Given the description of an element on the screen output the (x, y) to click on. 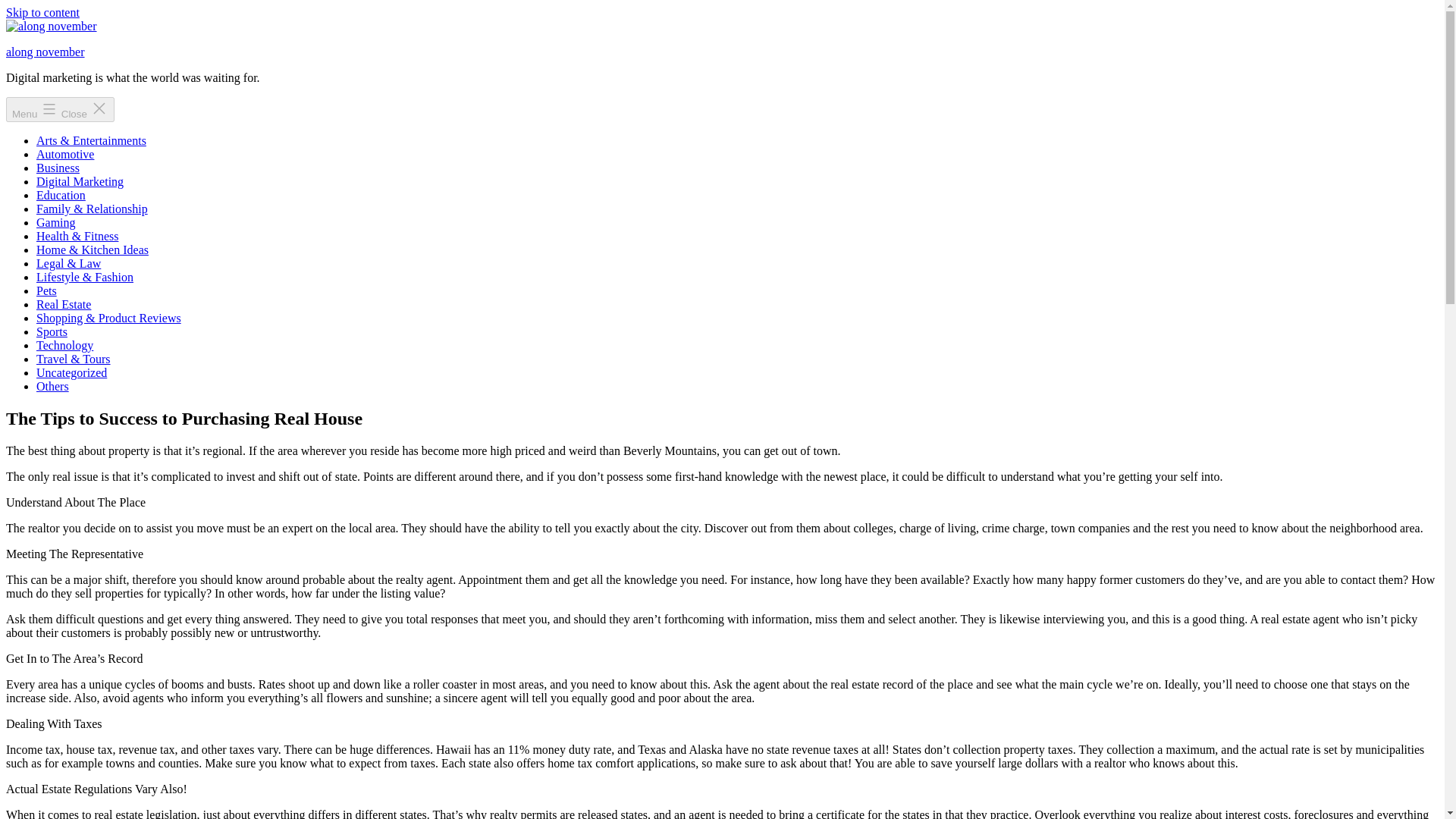
Others (52, 386)
Sports (51, 331)
Digital Marketing (79, 181)
along november (44, 51)
Menu Close (60, 109)
Real Estate (63, 304)
Business (58, 167)
Pets (46, 290)
Technology (64, 345)
Automotive (65, 154)
Skip to content (42, 11)
Gaming (55, 222)
Uncategorized (71, 372)
Education (60, 195)
